Given the description of an element on the screen output the (x, y) to click on. 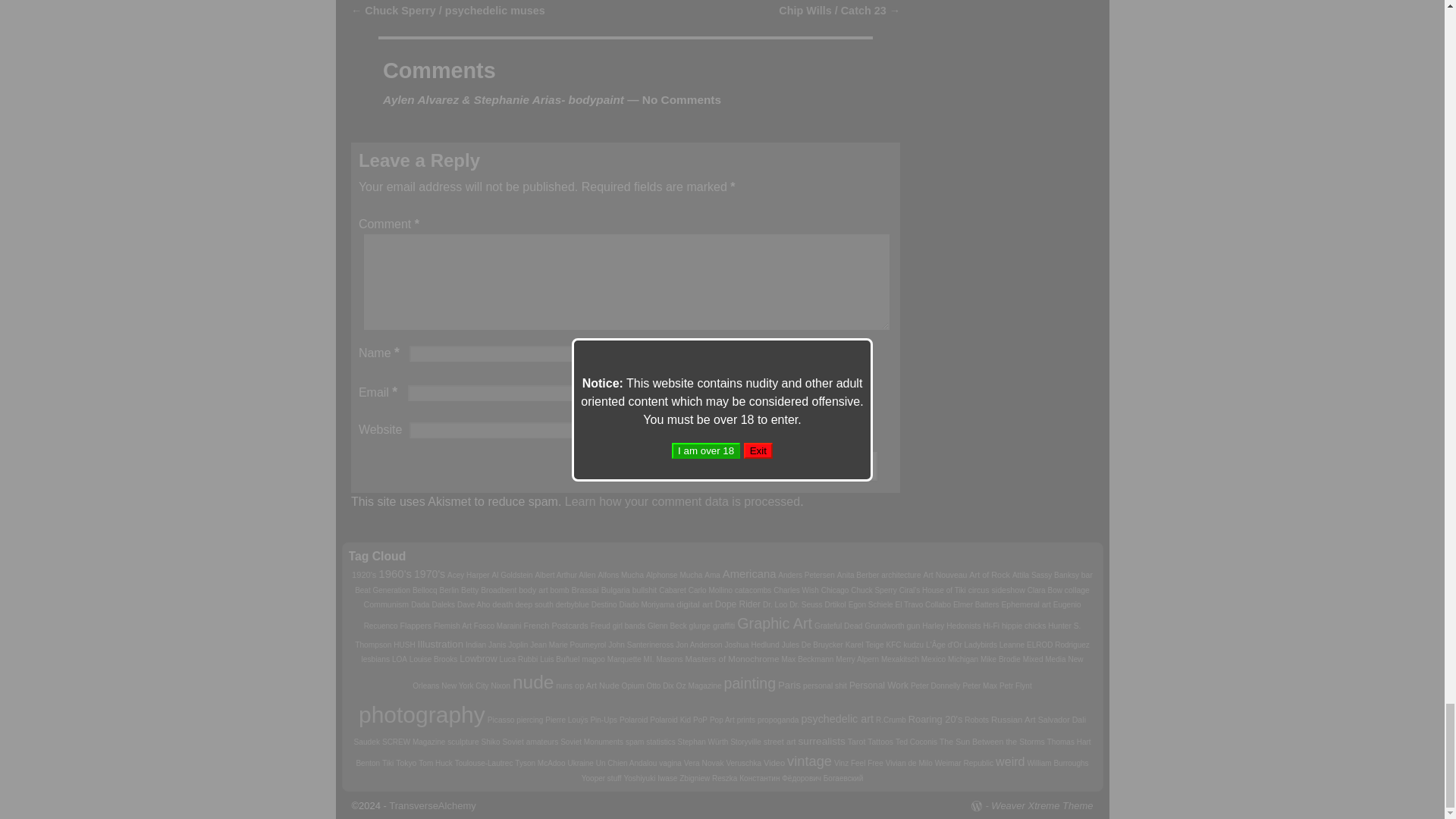
Post Comment (799, 466)
1 topic (512, 574)
1 topic (564, 574)
1 topic (619, 574)
24 topics (395, 573)
6 topics (363, 574)
20 topics (429, 573)
1 topic (467, 574)
